Given the description of an element on the screen output the (x, y) to click on. 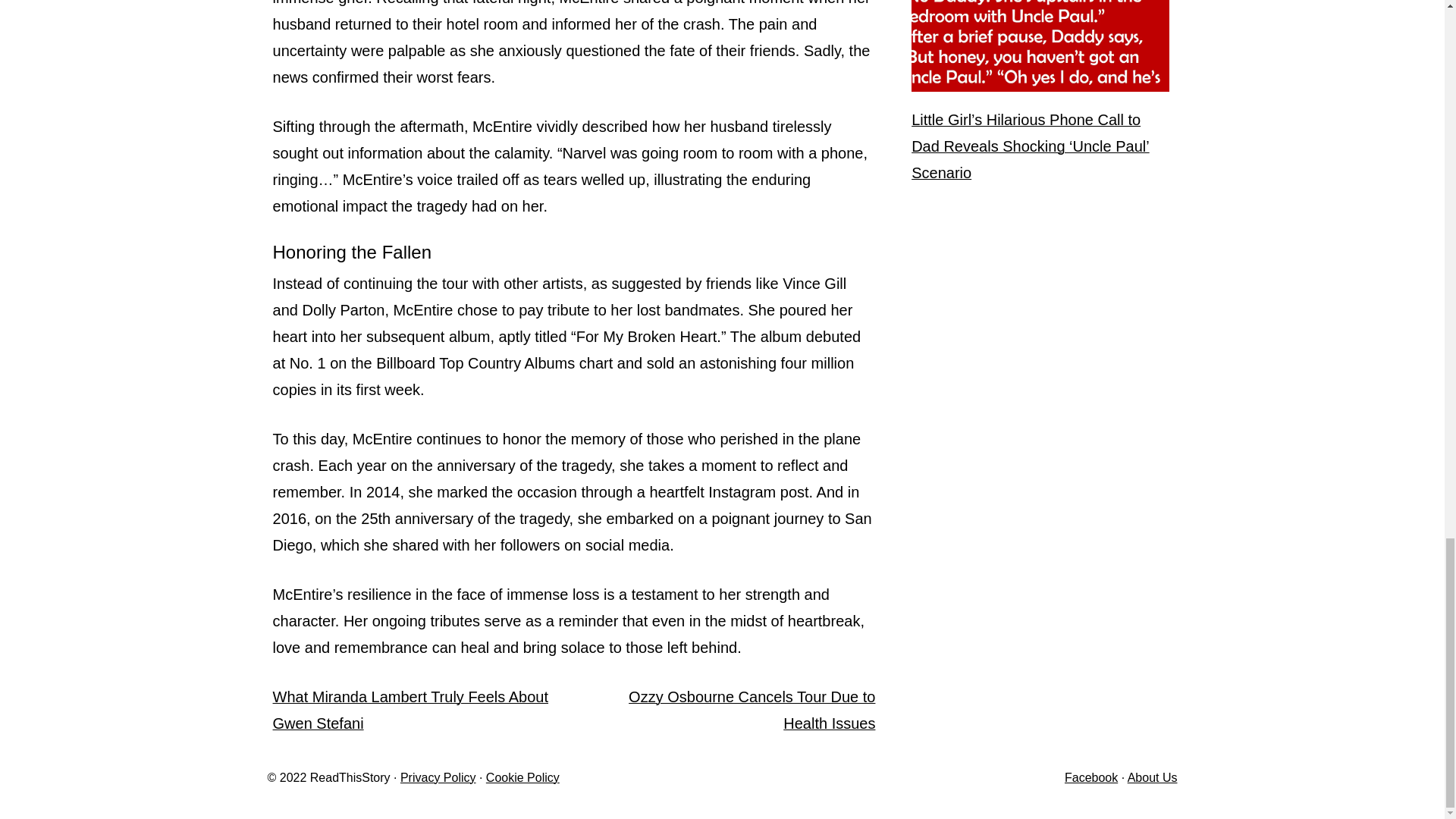
Cookie Policy (522, 777)
Ozzy Osbourne Cancels Tour Due to Health Issues (751, 710)
About Us (1151, 777)
Privacy Policy (438, 777)
What Miranda Lambert Truly Feels About Gwen Stefani (410, 710)
Facebook (1091, 777)
